Given the description of an element on the screen output the (x, y) to click on. 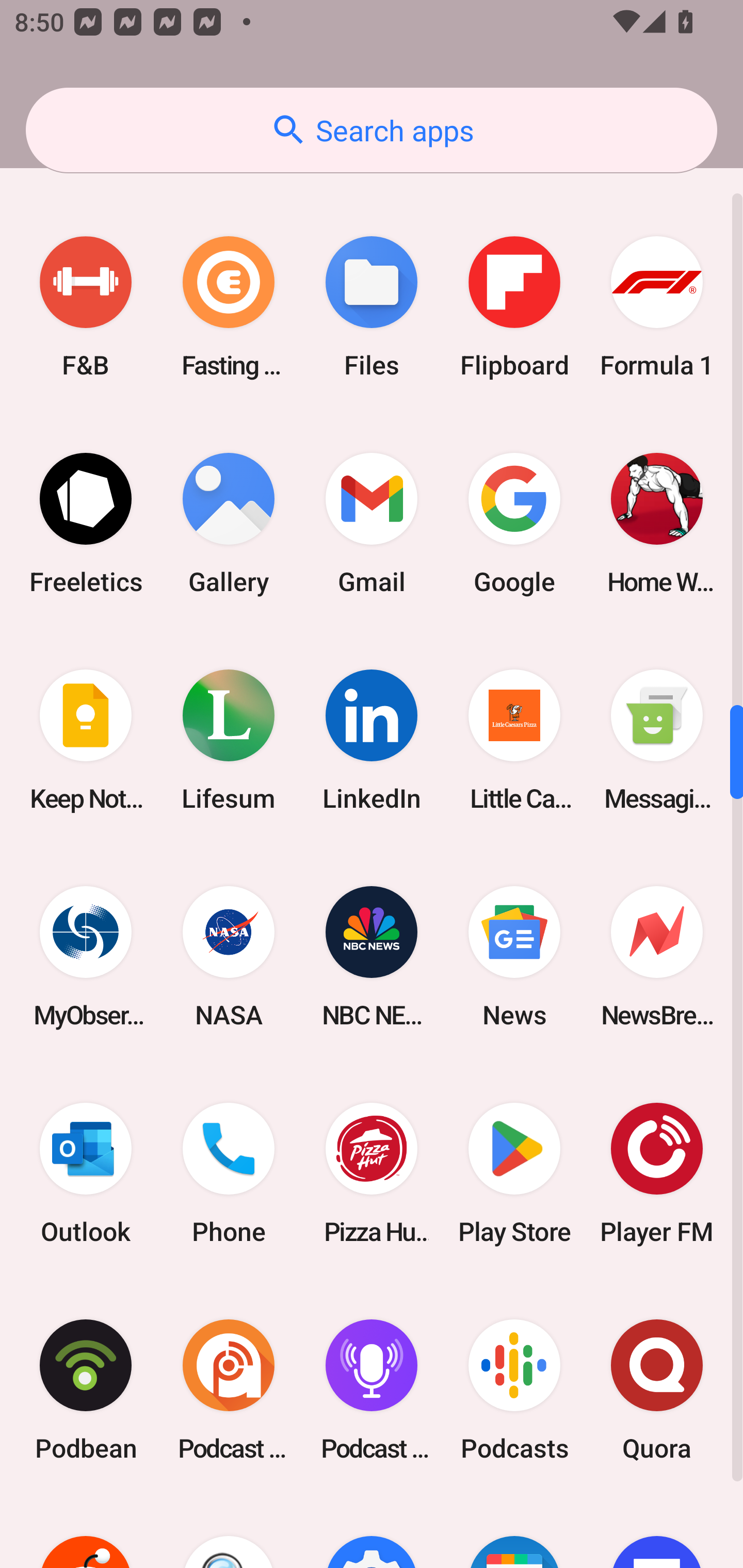
  Search apps (371, 130)
F&B (85, 307)
Fasting Coach (228, 307)
Files (371, 307)
Flipboard (514, 307)
Formula 1 (656, 307)
Freeletics (85, 523)
Gallery (228, 523)
Gmail (371, 523)
Google (514, 523)
Home Workout (656, 523)
Keep Notes (85, 739)
Lifesum (228, 739)
LinkedIn (371, 739)
Little Caesars Pizza (514, 739)
Messaging (656, 739)
MyObservatory (85, 956)
NASA (228, 956)
NBC NEWS (371, 956)
News (514, 956)
NewsBreak (656, 956)
Outlook (85, 1172)
Phone (228, 1172)
Pizza Hut HK & Macau (371, 1172)
Play Store (514, 1172)
Player FM (656, 1172)
Podbean (85, 1390)
Podcast Addict (228, 1390)
Podcast Player (371, 1390)
Podcasts (514, 1390)
Quora (656, 1390)
